Given the description of an element on the screen output the (x, y) to click on. 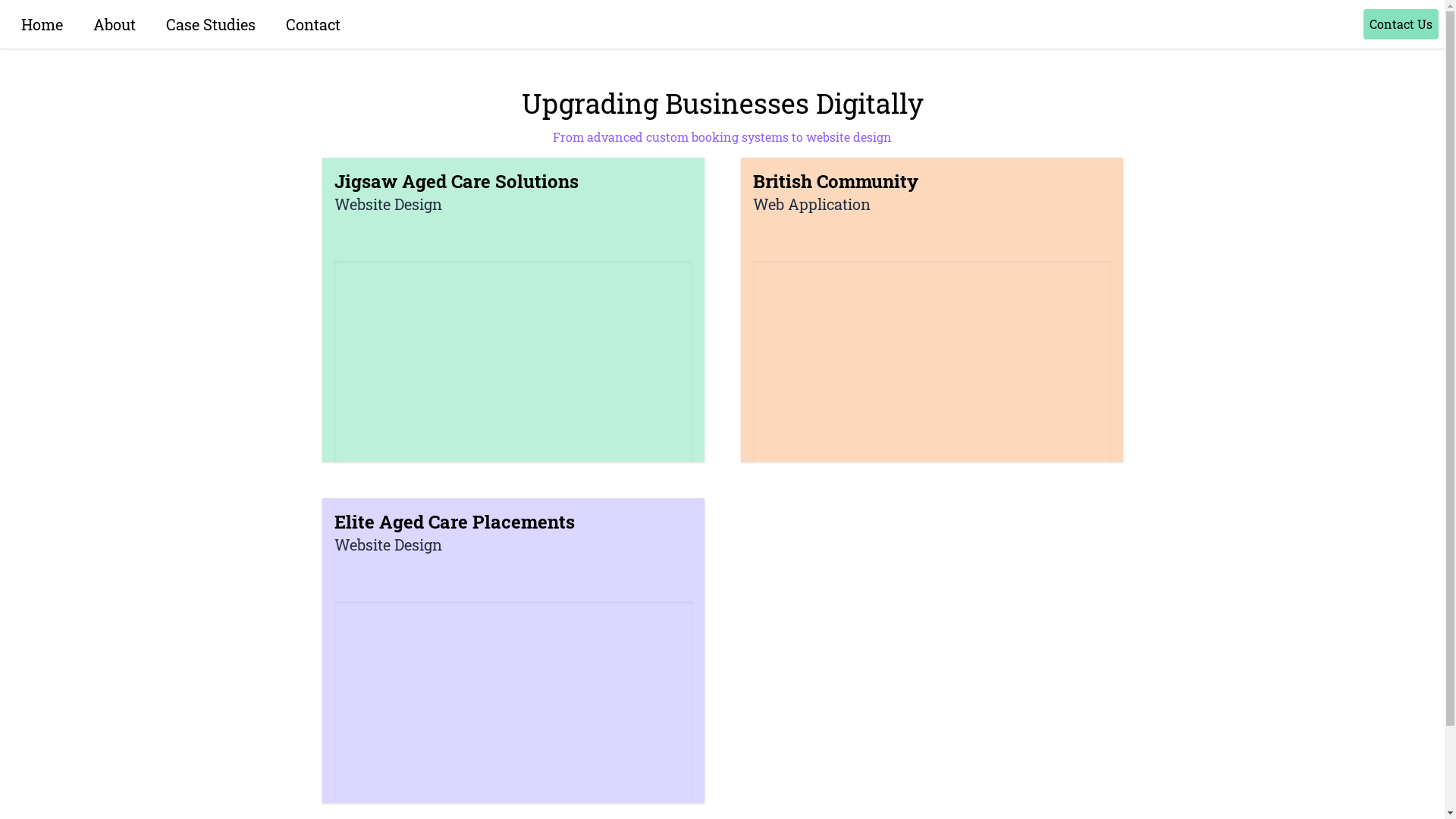
Jigsaw Aged Care Solutions
Website Design Element type: text (512, 309)
Home Element type: text (41, 24)
Elite Aged Care Placements
Website Design Element type: text (512, 650)
About Element type: text (114, 24)
Contact Element type: text (312, 24)
Contact Us Element type: text (1400, 24)
British Community
Web Application Element type: text (931, 309)
Case Studies Element type: text (210, 24)
